Given the description of an element on the screen output the (x, y) to click on. 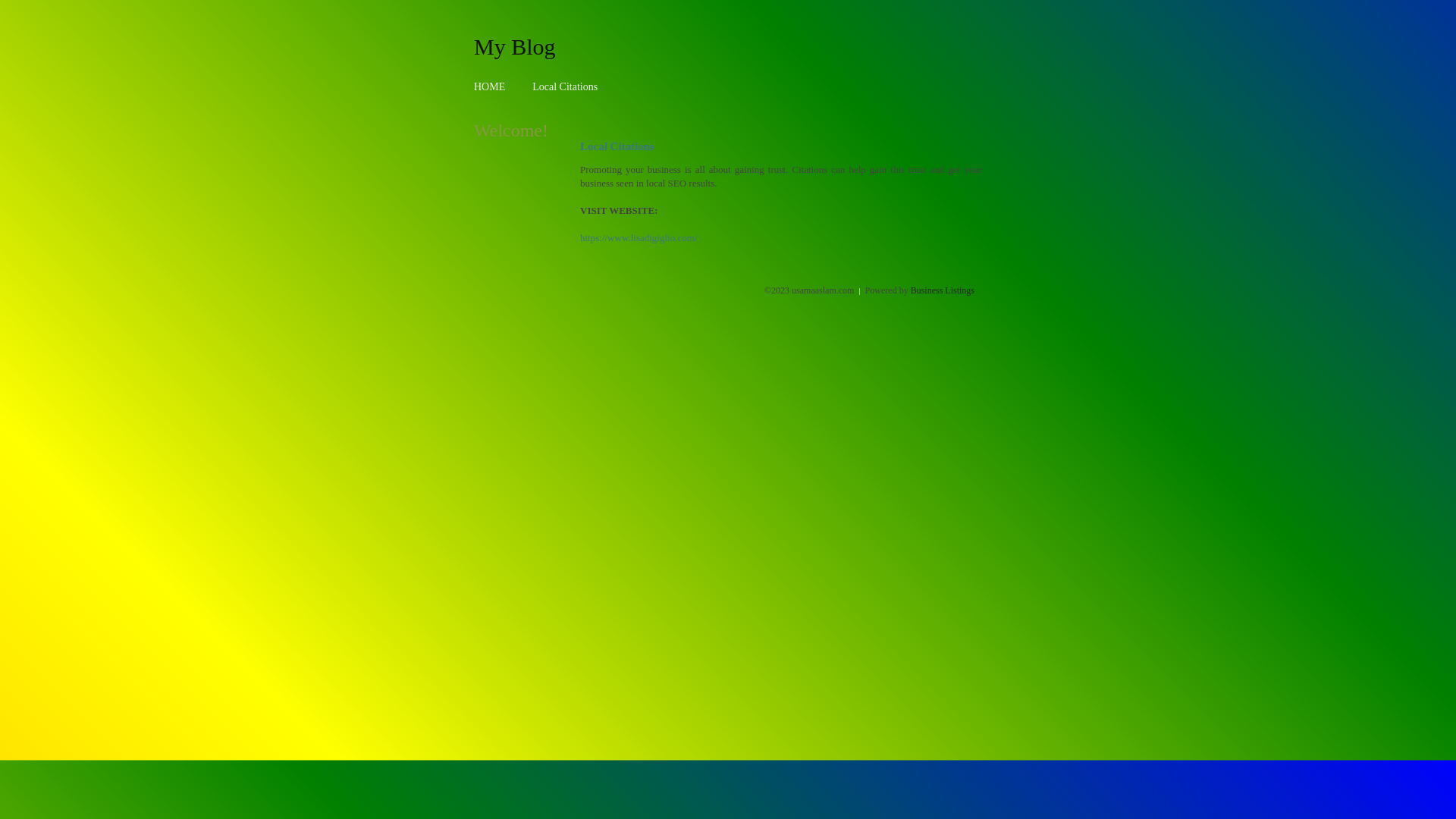
HOME Element type: text (489, 86)
Business Listings Element type: text (942, 290)
https://www.lisadigiglio.com/ Element type: text (638, 237)
Local Citations Element type: text (564, 86)
My Blog Element type: text (514, 46)
